Given the description of an element on the screen output the (x, y) to click on. 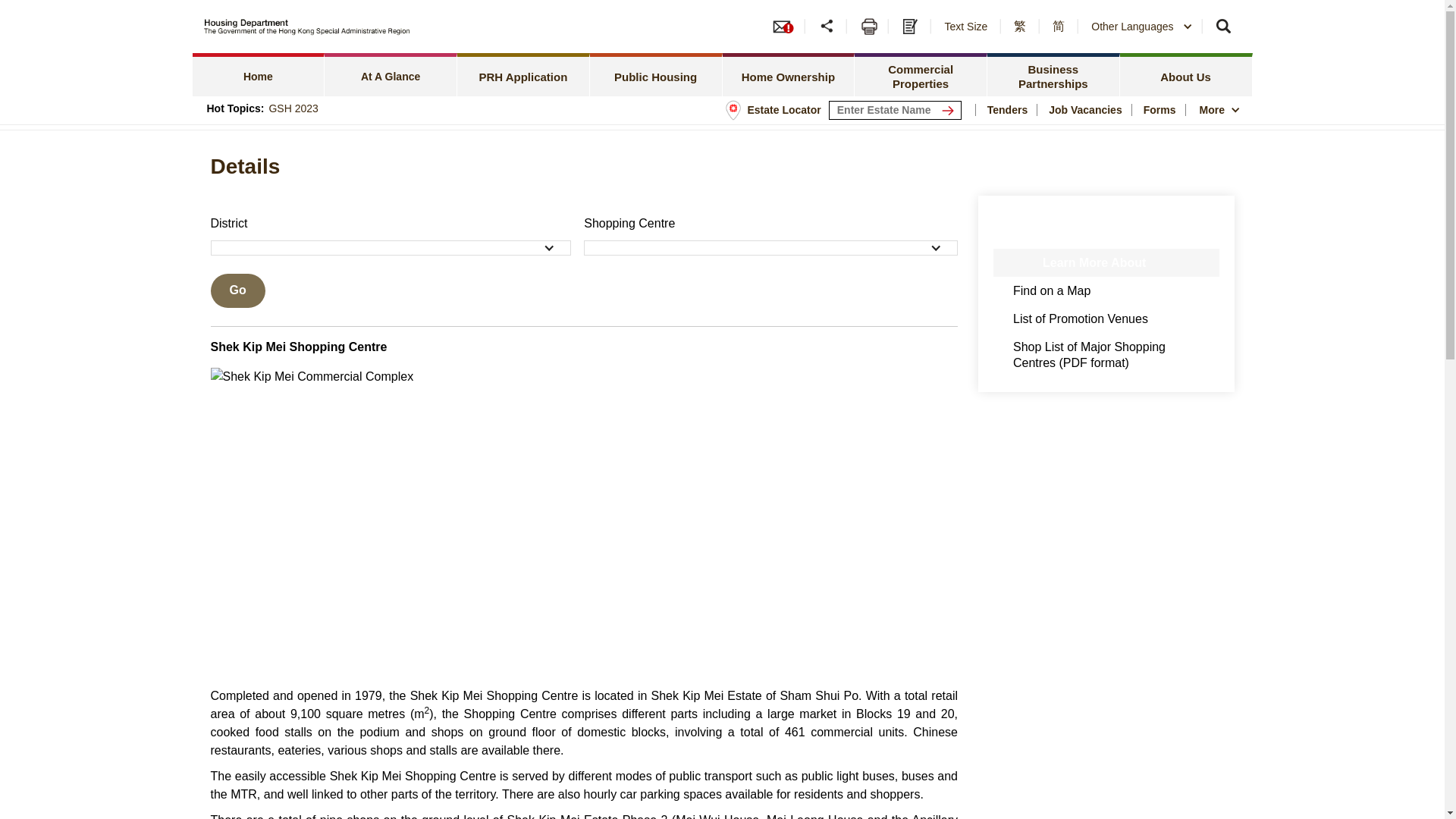
PRH Application (523, 74)
Home (258, 74)
Online Form for Enquiries, Comments or Complaints (911, 26)
Print (868, 26)
Text Size (968, 25)
Public Housing (655, 74)
Search (1225, 26)
E-mail Alert (787, 26)
Share (827, 26)
